Given the description of an element on the screen output the (x, y) to click on. 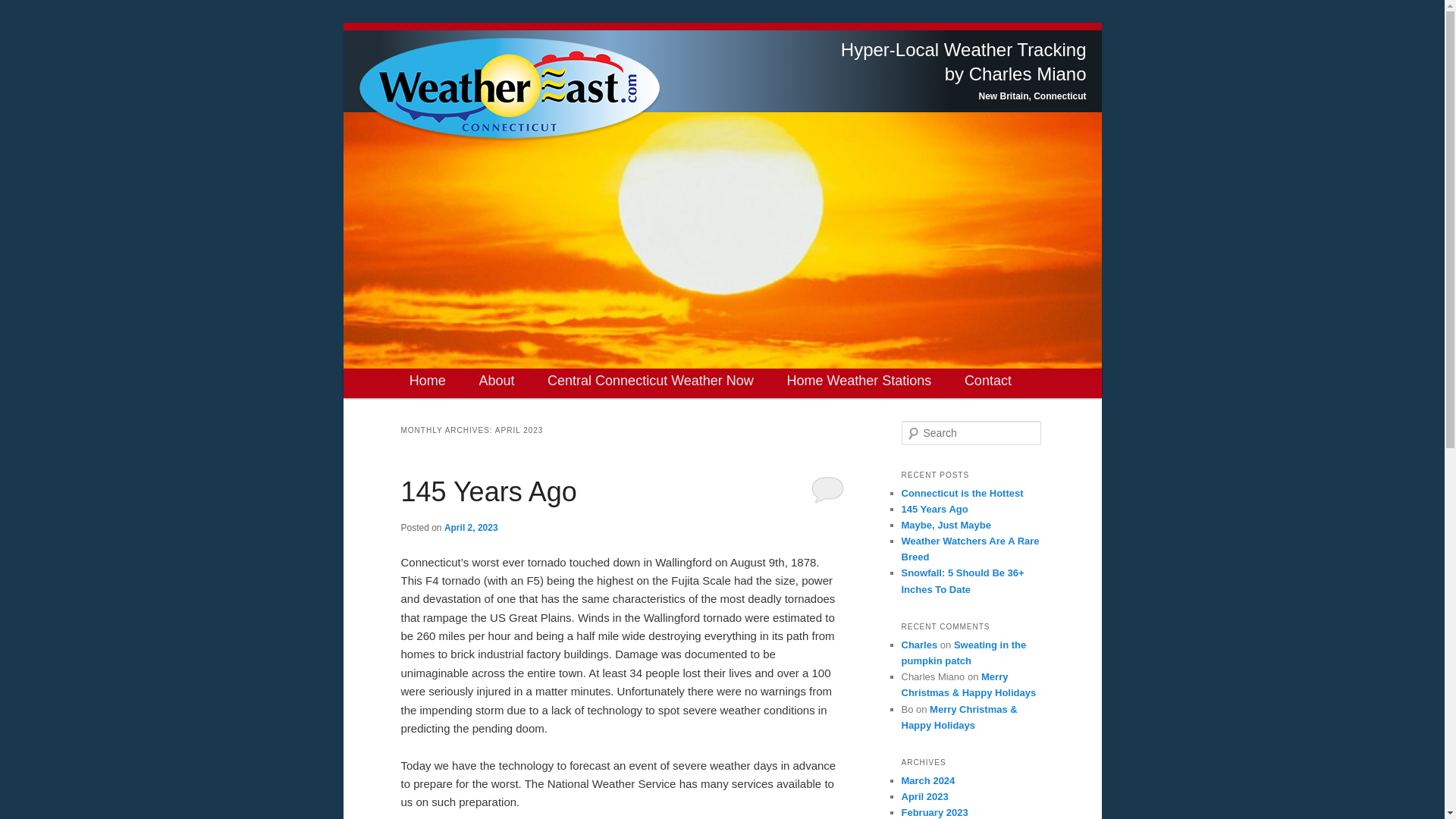
Connecticut is the Hottest (962, 492)
5:30 pm (470, 527)
Contact (987, 380)
Charles (919, 644)
Search (21, 11)
145 Years Ago (934, 509)
Home (428, 380)
April 2, 2023 (470, 527)
Home Weather Stations (858, 380)
Sweating in the pumpkin patch (963, 652)
February 2023 (934, 812)
April 2023 (924, 796)
Central Connecticut Weather Now (650, 380)
